Given the description of an element on the screen output the (x, y) to click on. 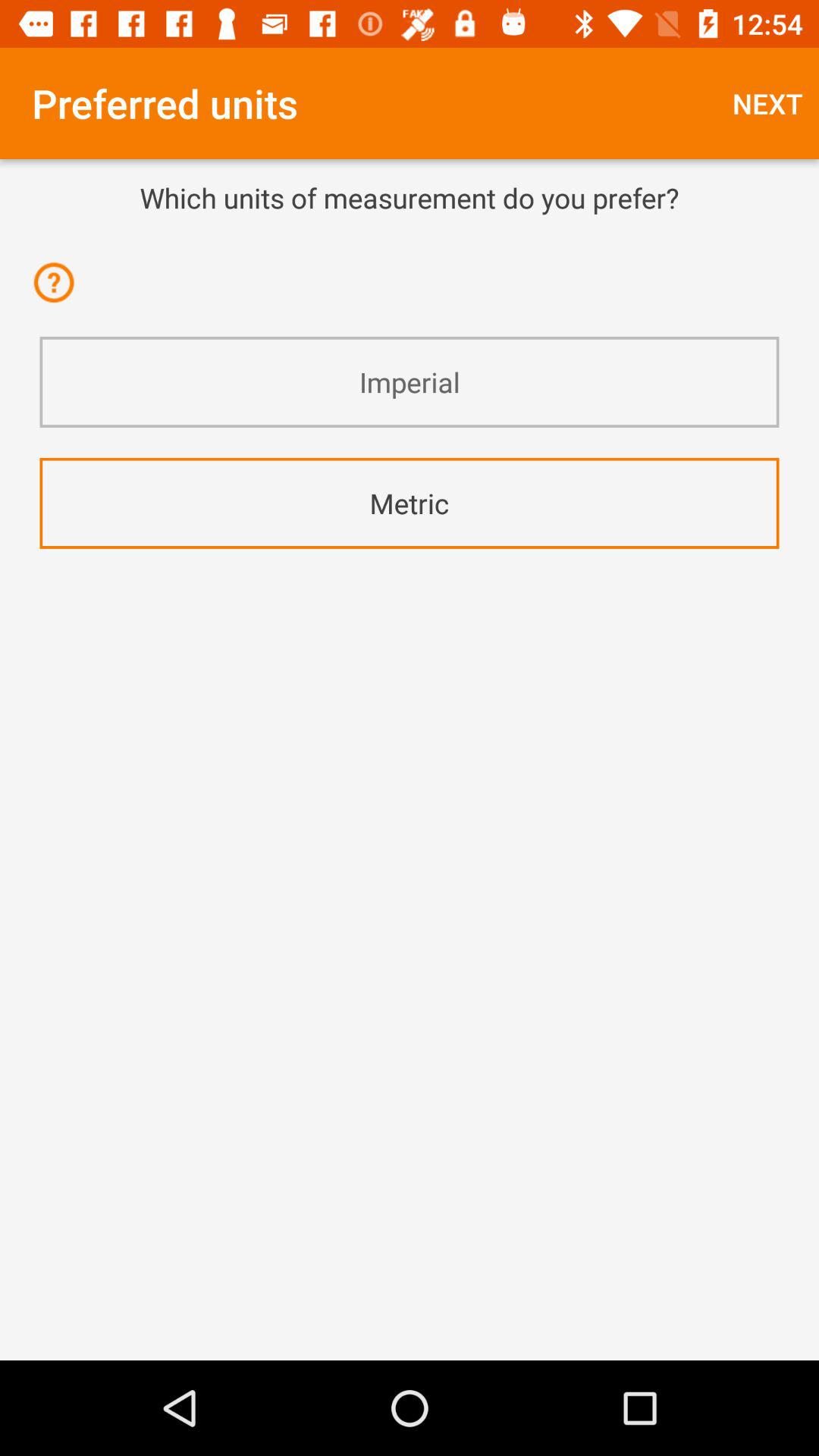
turn on the next item (767, 103)
